Given the description of an element on the screen output the (x, y) to click on. 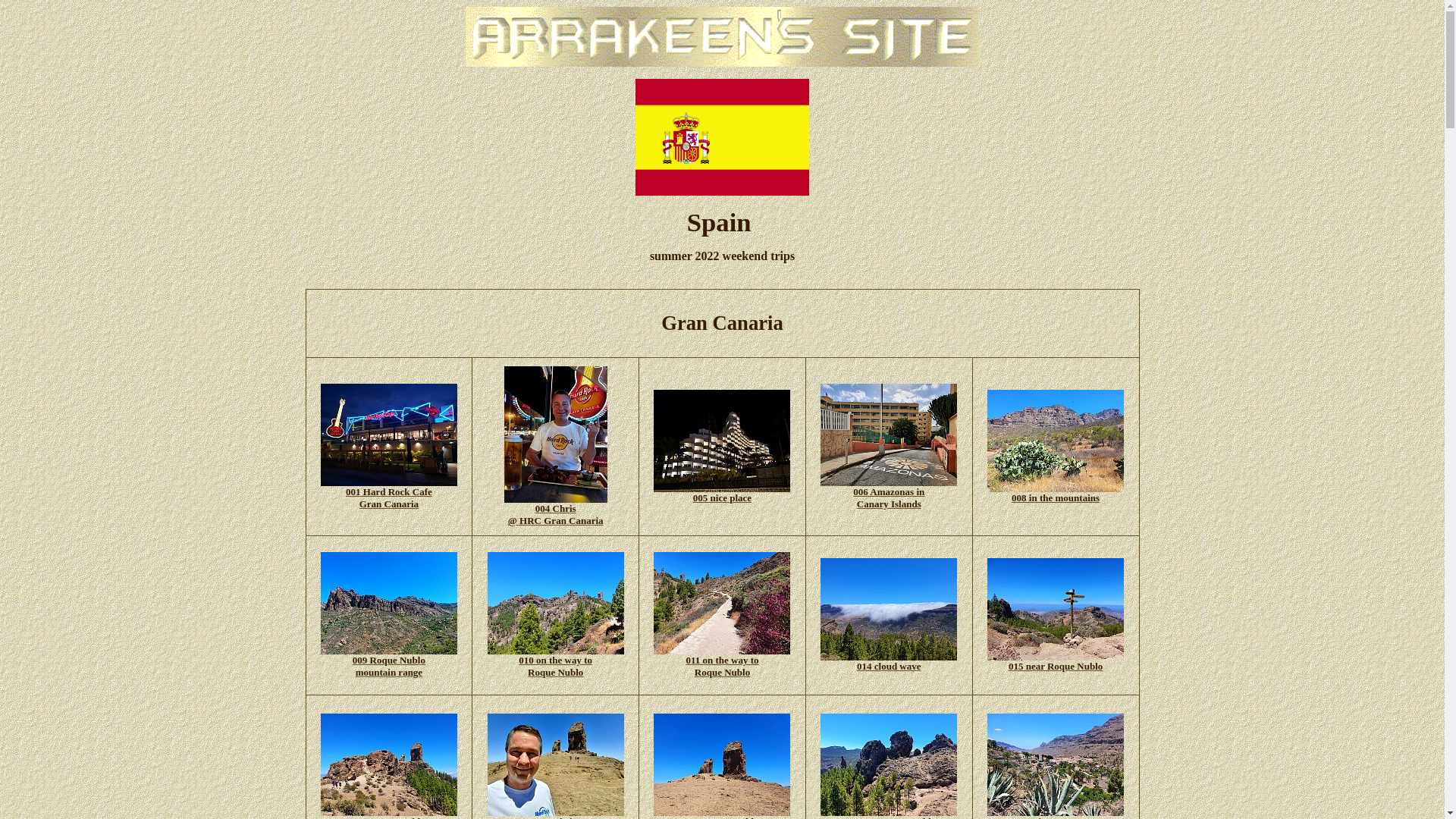
015 near Roque Nublo Element type: text (1055, 661)
004 Chris
@ HRC Gran Canaria Element type: text (555, 509)
005 nice place Element type: text (721, 492)
011 on the way to
Roque Nublo Element type: text (721, 661)
006 Amazonas in
Canary Islands Element type: text (888, 492)
001 Hard Rock Cafe
Gran Canaria Element type: text (388, 492)
009 Roque Nublo
mountain range Element type: text (388, 661)
014 cloud wave Element type: text (888, 661)
010 on the way to
Roque Nublo Element type: text (555, 661)
008 in the mountains Element type: text (1055, 492)
